Given the description of an element on the screen output the (x, y) to click on. 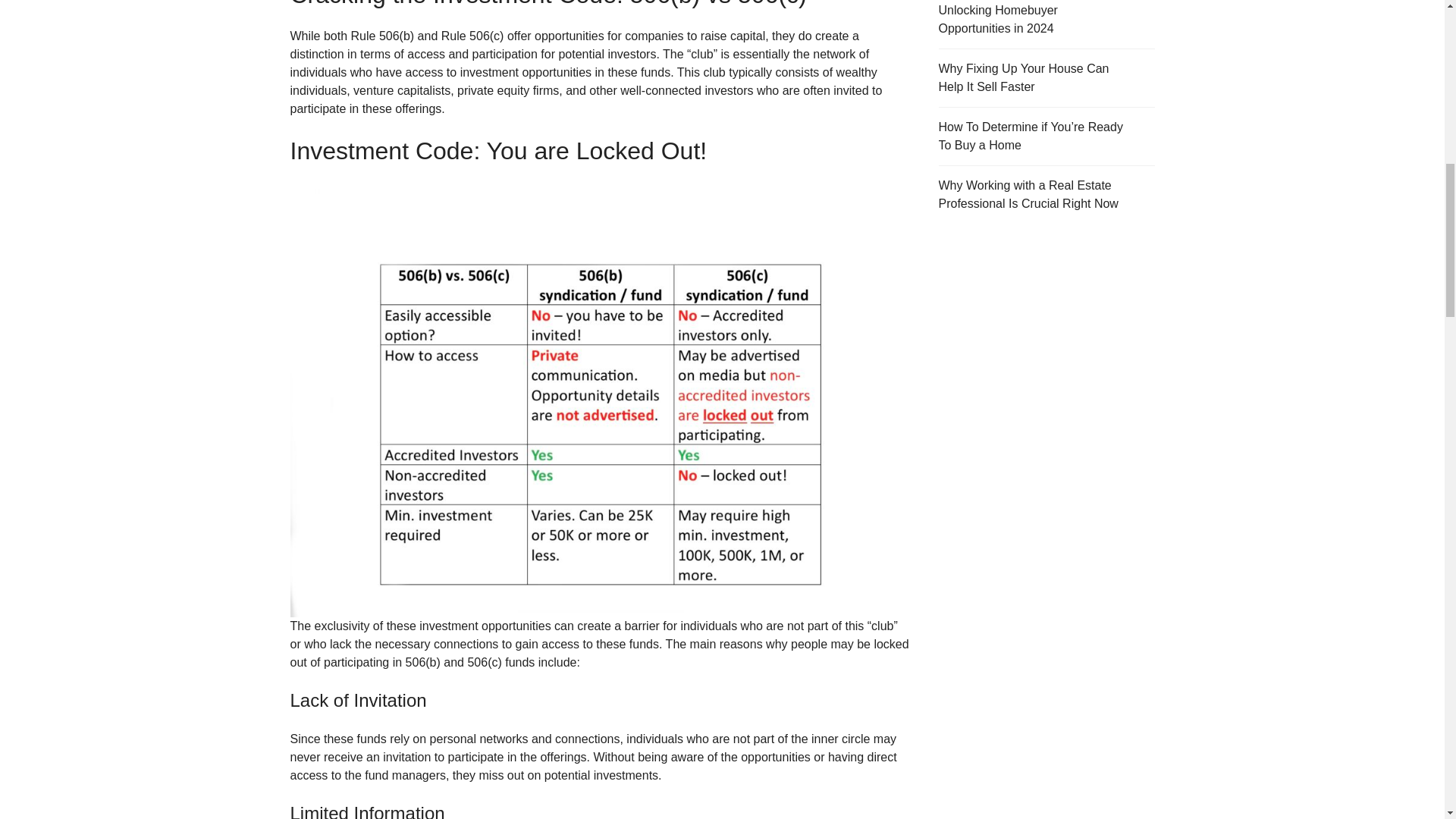
Why Fixing Up Your House Can Help It Sell Faster (1046, 78)
Unlocking Homebuyer Opportunities in 2024 (1046, 24)
